Given the description of an element on the screen output the (x, y) to click on. 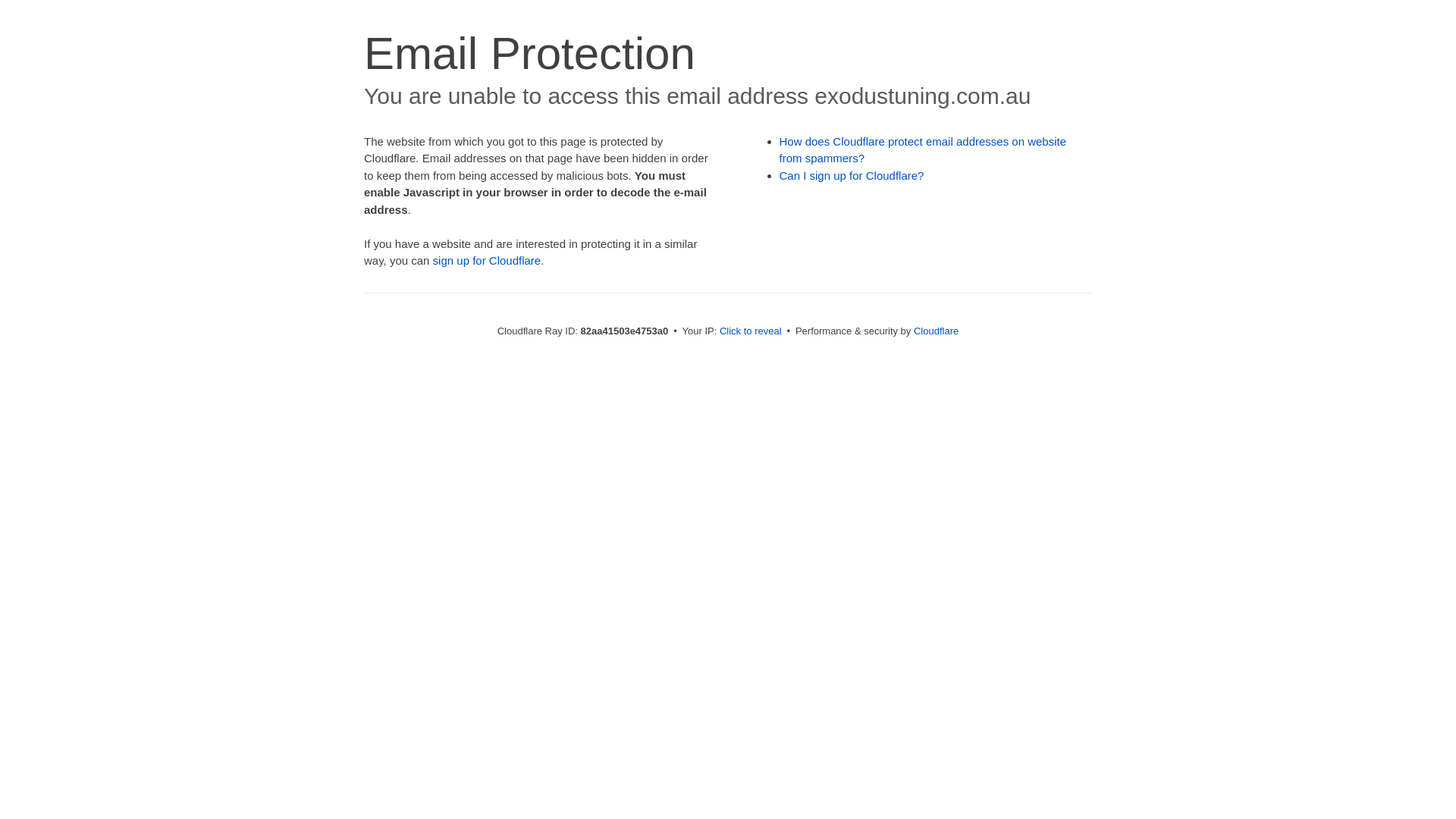
sign up for Cloudflare Element type: text (487, 260)
Can I sign up for Cloudflare? Element type: text (851, 175)
Cloudflare Element type: text (935, 330)
Click to reveal Element type: text (750, 330)
